Given the description of an element on the screen output the (x, y) to click on. 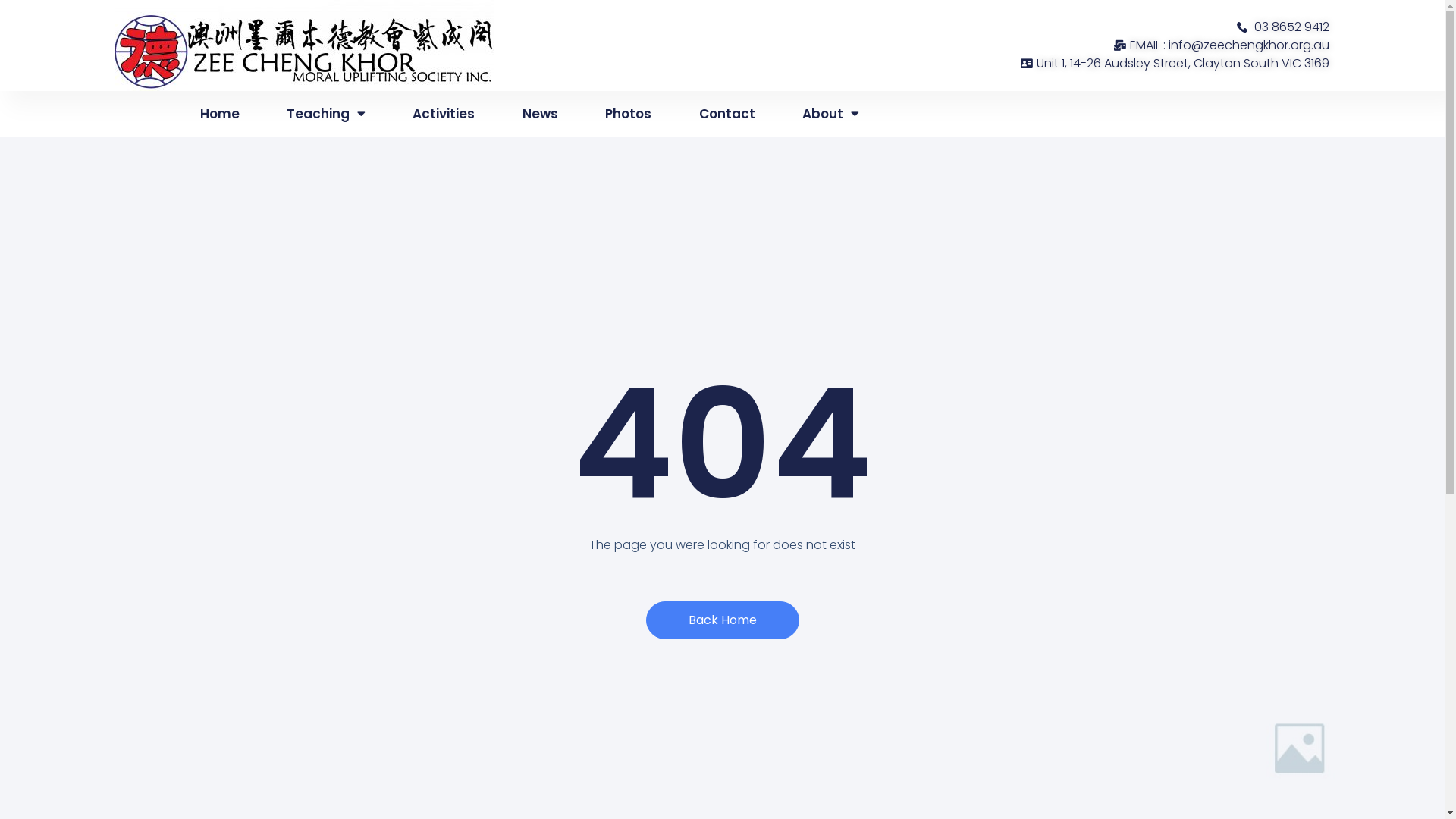
FRONT copy Element type: hover (304, 45)
EMAIL : info@zeechengkhor.org.au Element type: text (1024, 45)
About Element type: text (830, 113)
Photos Element type: text (628, 113)
News Element type: text (540, 113)
03 8652 9412 Element type: text (1024, 27)
Teaching Element type: text (325, 113)
Activities Element type: text (443, 113)
Contact Element type: text (726, 113)
Back Home Element type: text (722, 620)
Home Element type: text (219, 113)
